Given the description of an element on the screen output the (x, y) to click on. 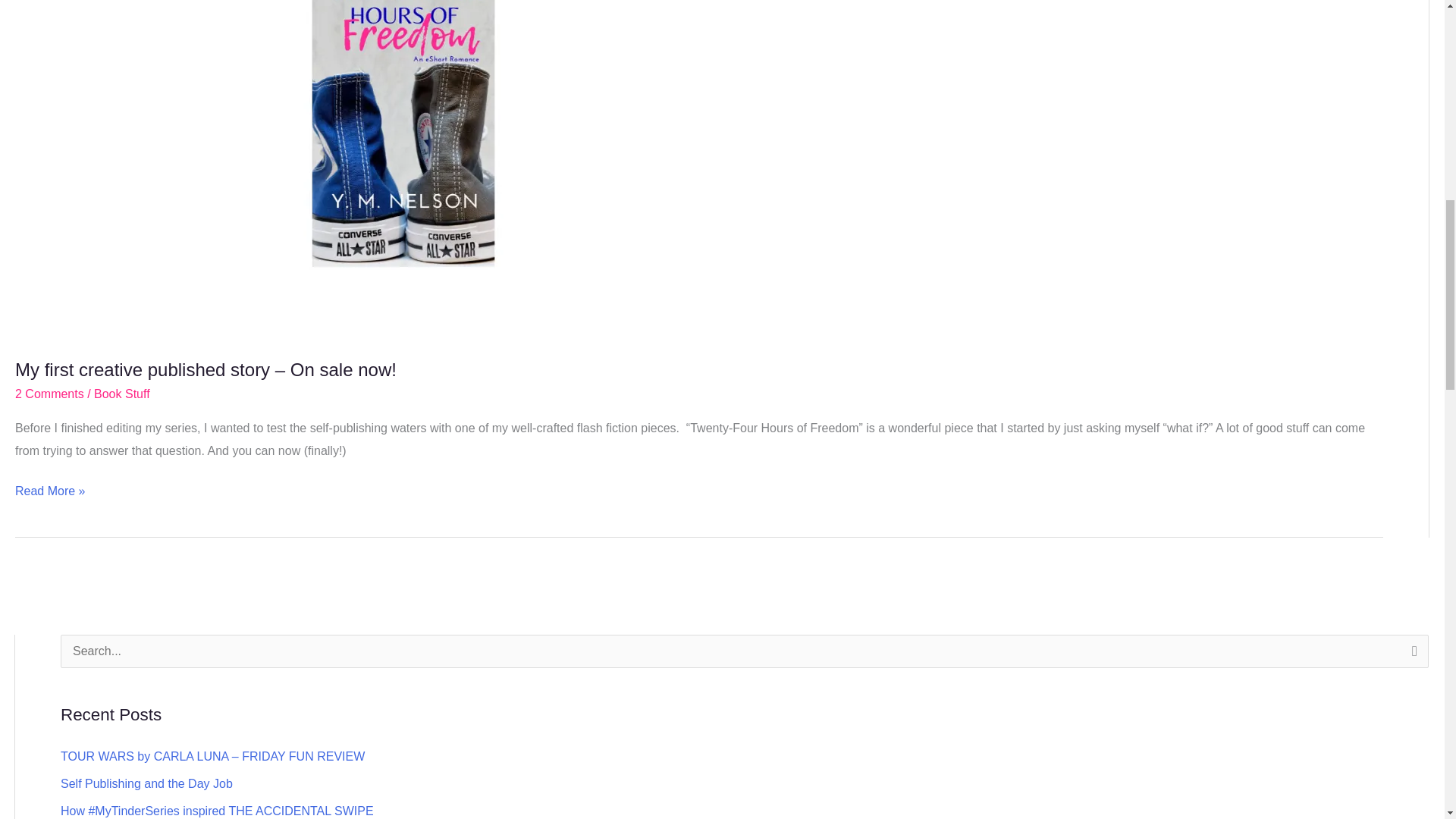
Book Stuff (121, 393)
Self Publishing and the Day Job (146, 783)
2 Comments (49, 393)
